Given the description of an element on the screen output the (x, y) to click on. 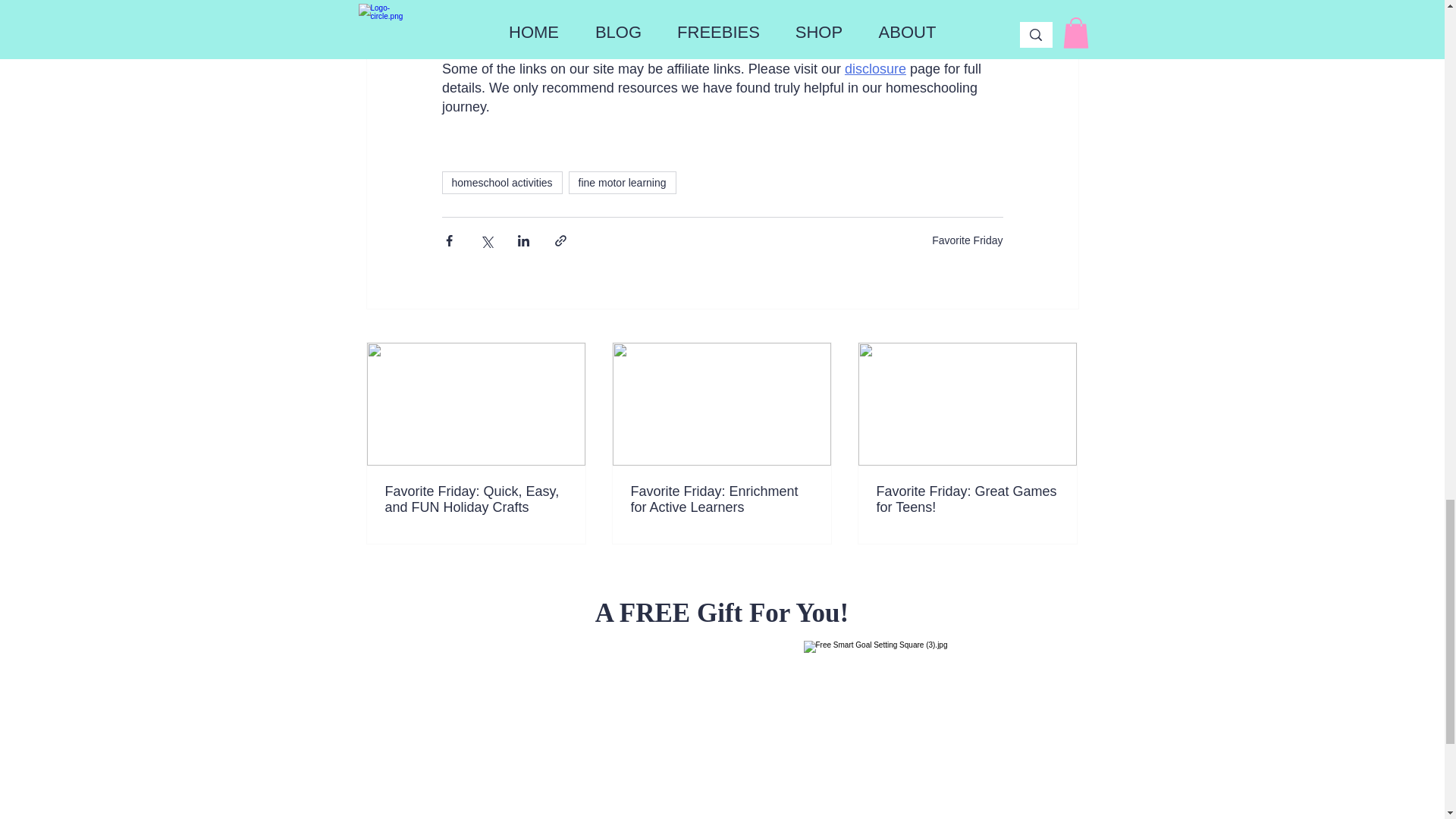
disclosure (874, 68)
Favorite Friday (967, 240)
fine motor learning (623, 182)
homeschool activities (501, 182)
